Given the description of an element on the screen output the (x, y) to click on. 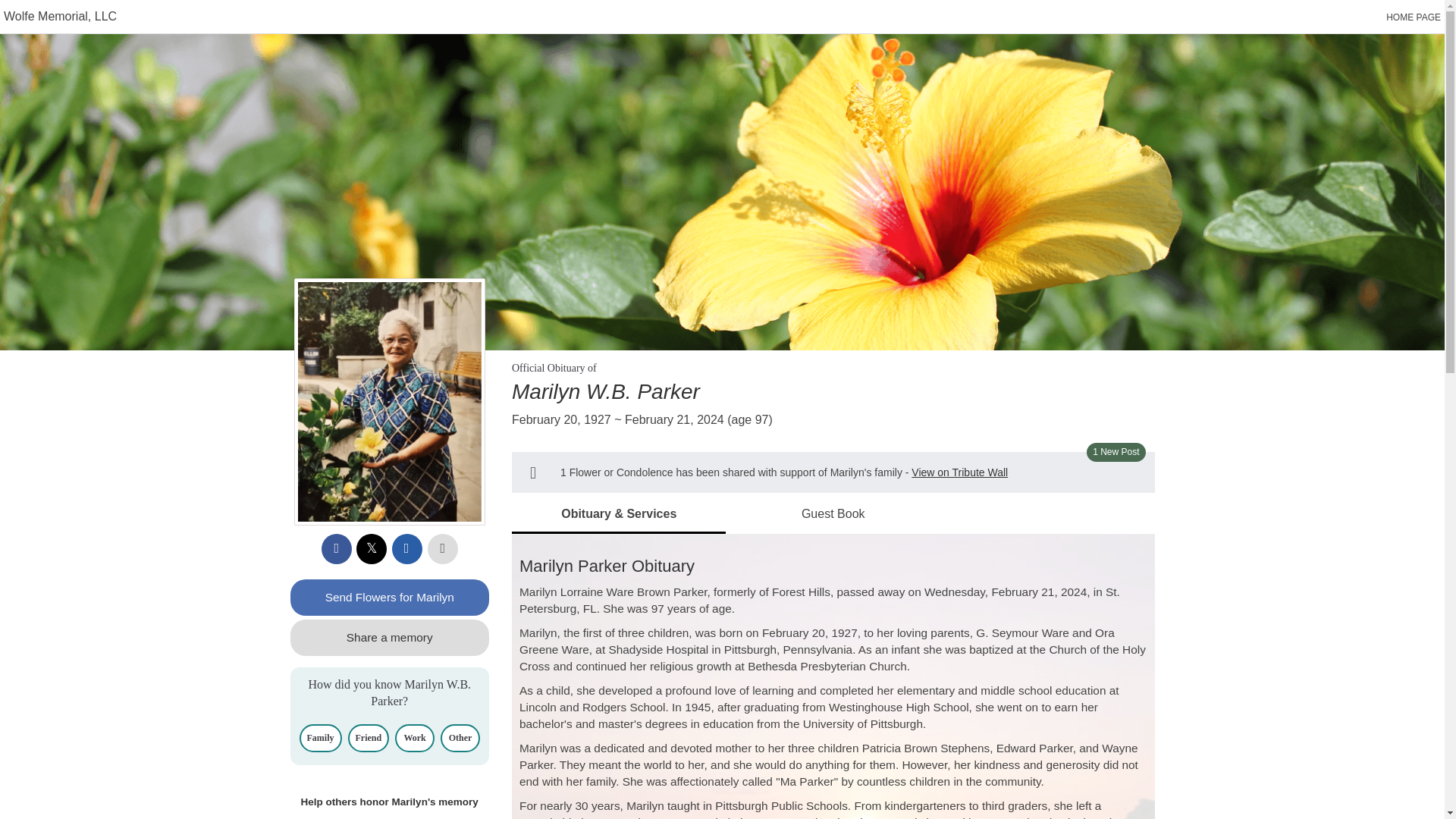
Share a memory (389, 637)
Share on X (371, 548)
Wolfe Memorial, LLC (60, 15)
HOME PAGE (1413, 17)
Share to Facebook (336, 548)
View on Tribute Wall (959, 472)
Send Flowers for Marilyn (389, 597)
Printable copy (443, 548)
Share via email (406, 548)
